Given the description of an element on the screen output the (x, y) to click on. 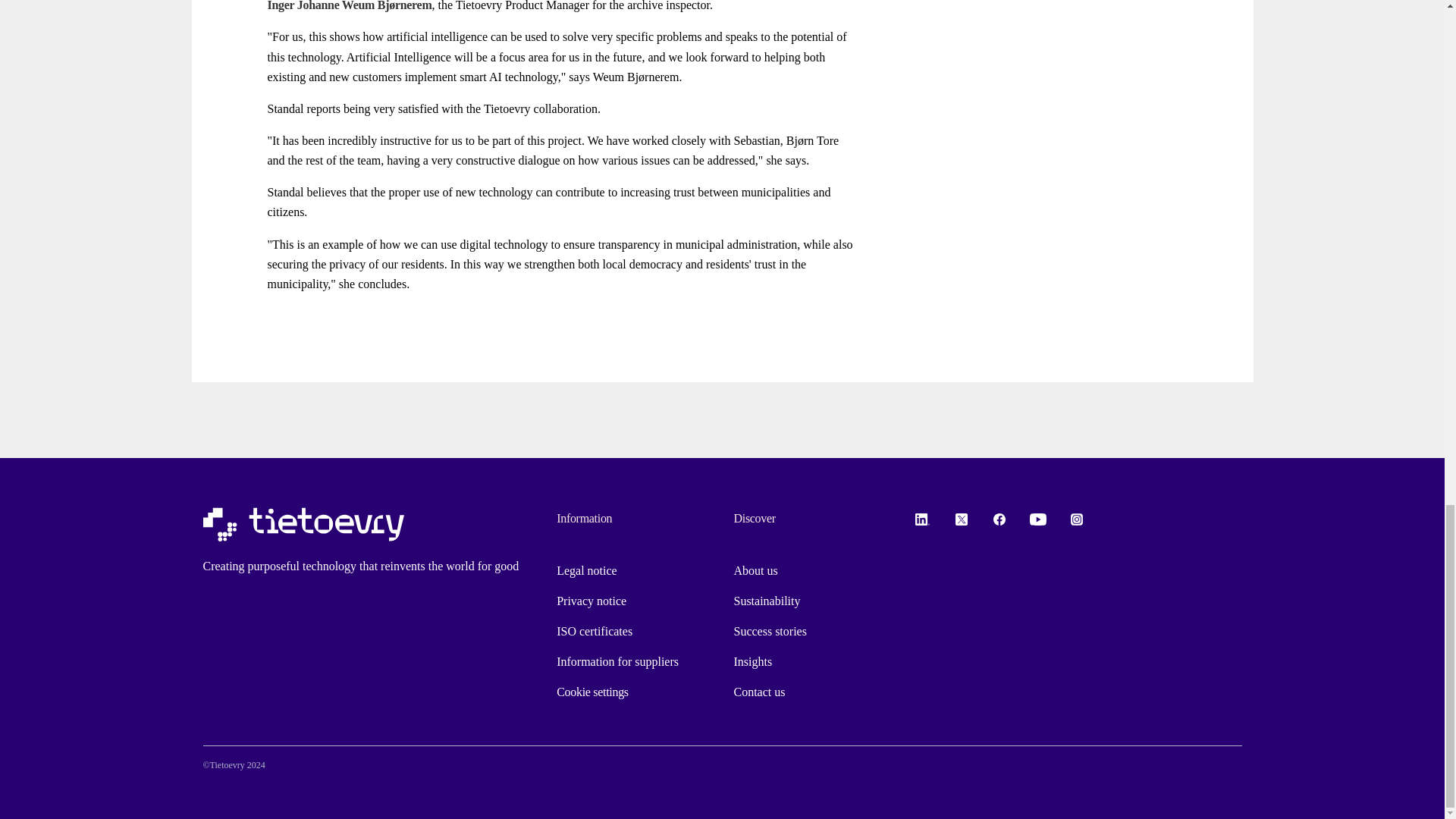
Home (303, 524)
